Given the description of an element on the screen output the (x, y) to click on. 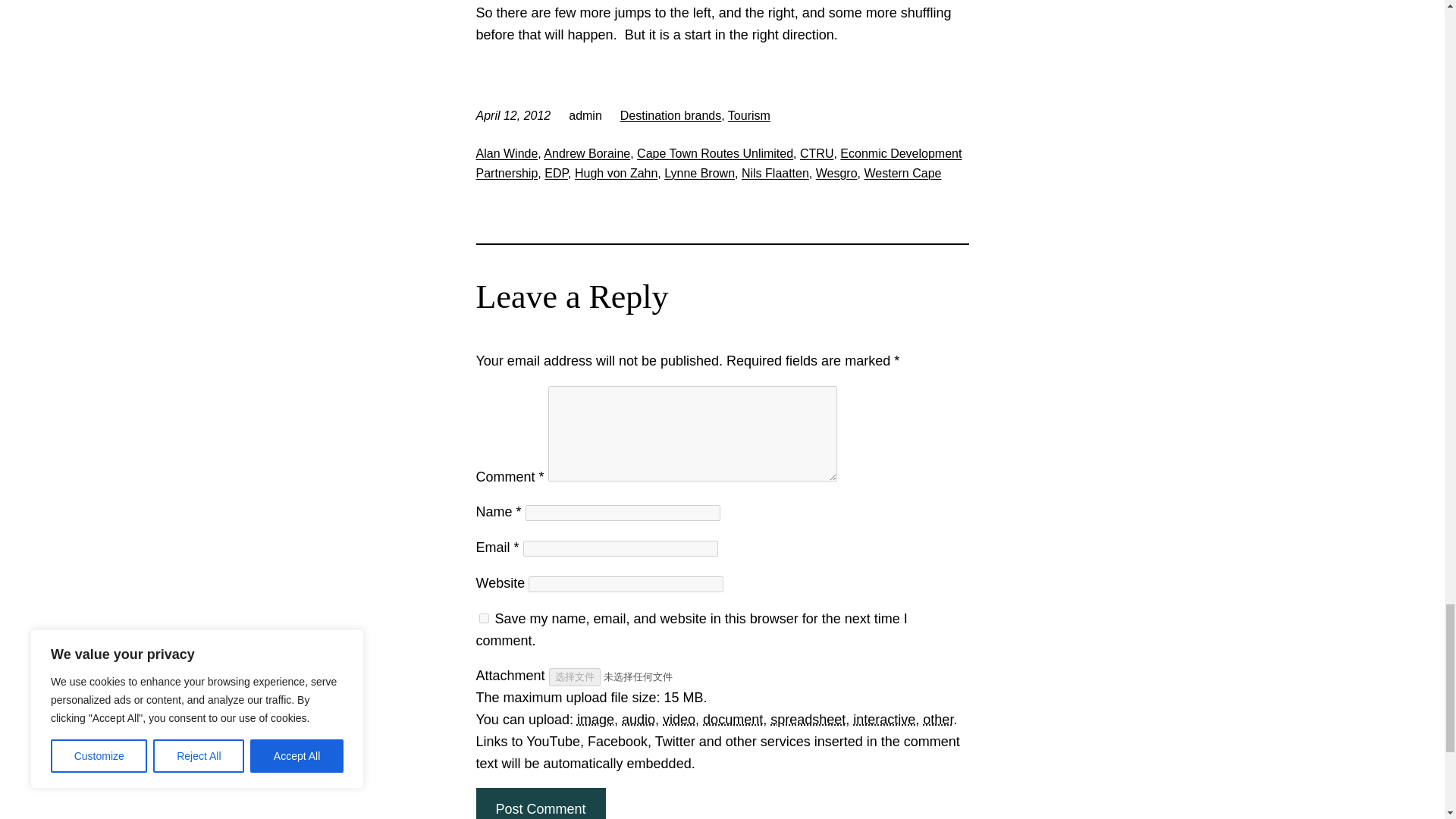
Post Comment (540, 803)
pdf, doc, docx, docm, odt (732, 719)
Hugh von Zahn (616, 173)
EDP (555, 173)
Tourism (749, 115)
mp3, m4a, m4b, ogg, oga, flac, wav (638, 719)
xls, xlsx, xlsm, xlsb (807, 719)
Western Cape (901, 173)
Destination brands (670, 115)
Wesgro (836, 173)
